Given the description of an element on the screen output the (x, y) to click on. 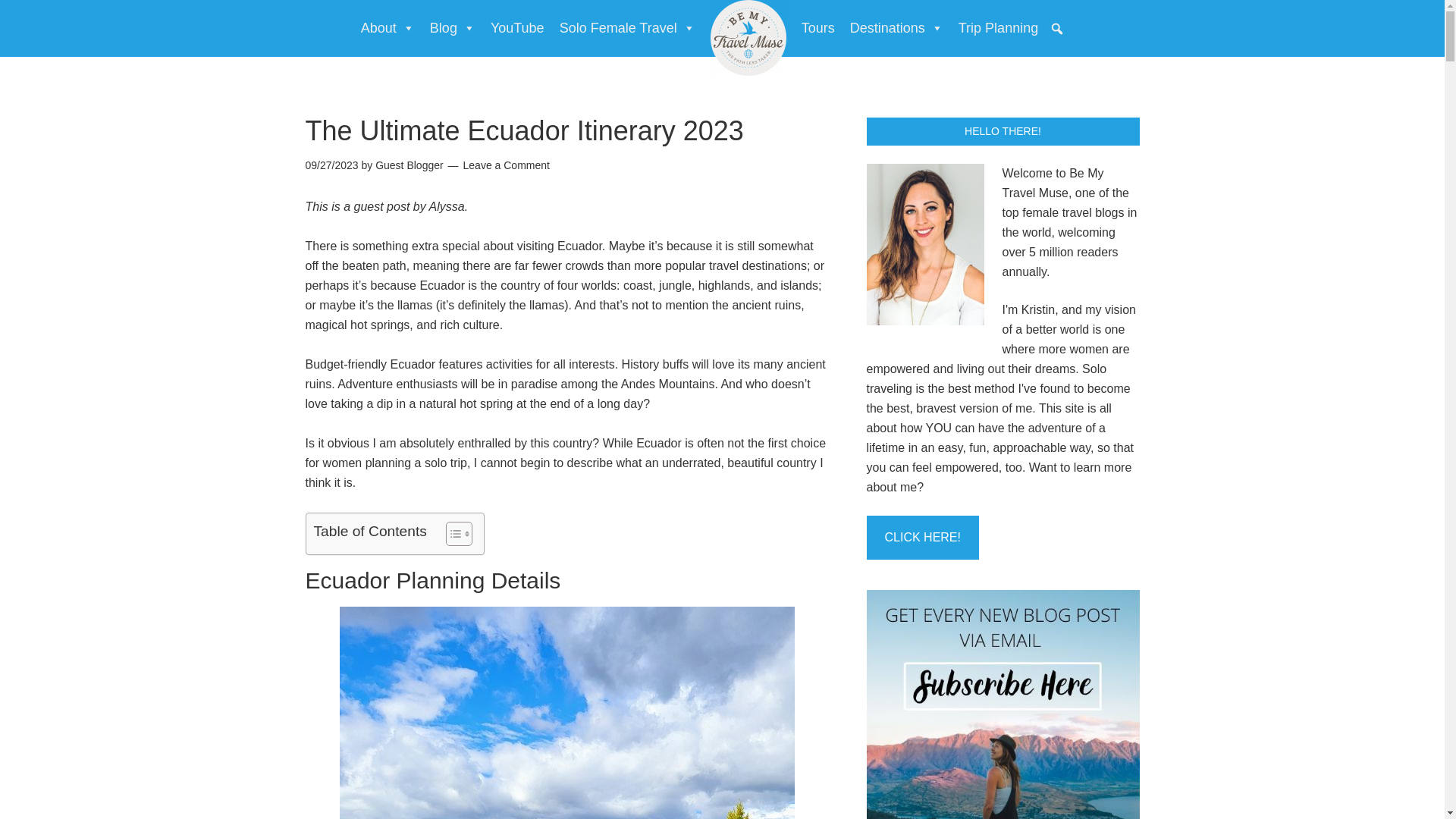
About (387, 28)
Blog (452, 28)
YouTube (517, 28)
Tours (818, 28)
Destinations (896, 28)
Solo Female Travel (627, 28)
Read more (922, 537)
